Given the description of an element on the screen output the (x, y) to click on. 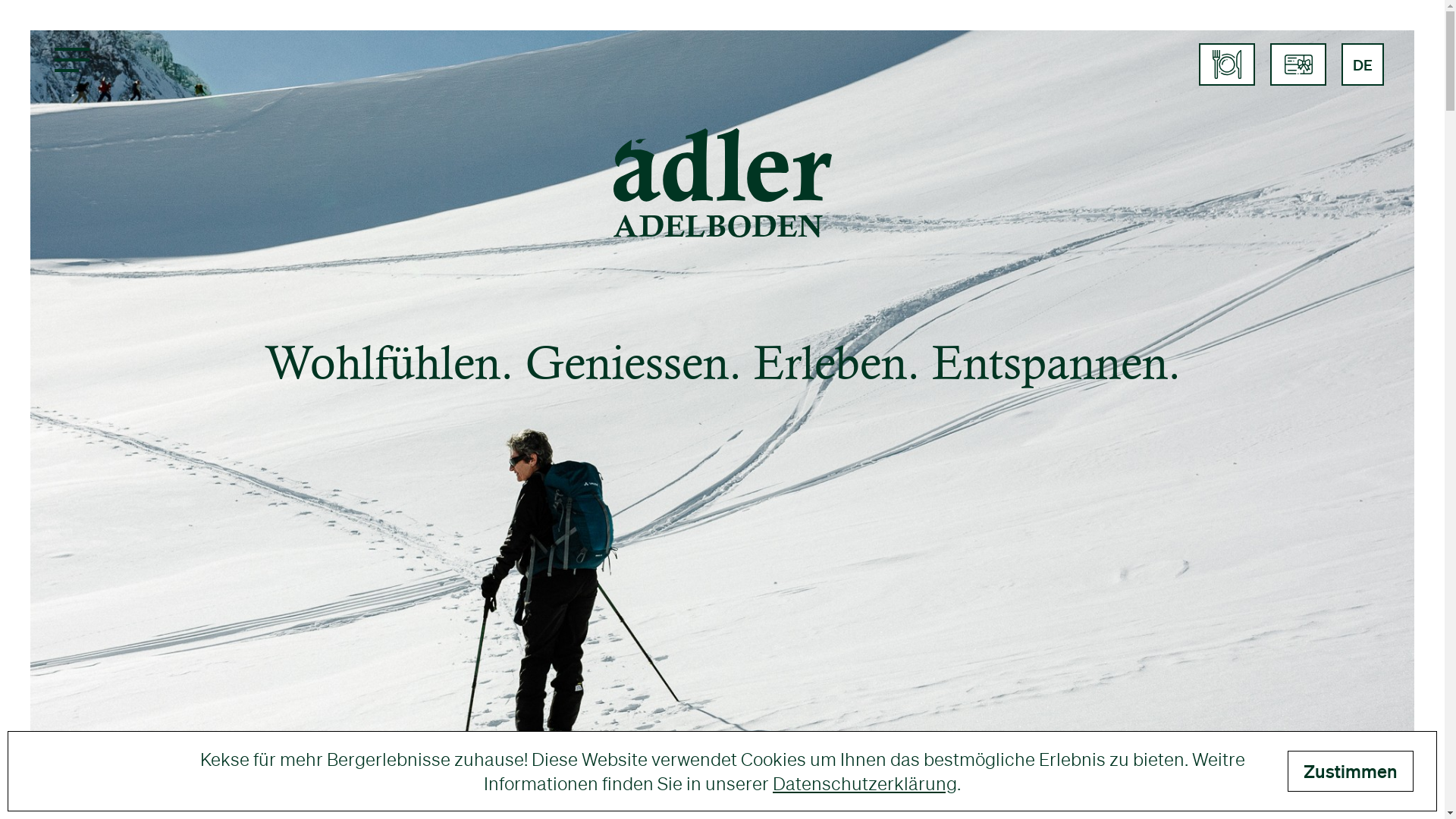
Gutscheine Element type: text (690, 549)
Anmelden Element type: text (551, 580)
Restaurant Element type: text (688, 487)
Adler- horst
Behind the Scenes Element type: text (1345, 658)
JETZT BEWERTEN Element type: text (1233, 573)
Anmelden Element type: text (917, 615)
+41 33 673 41 41 Element type: text (453, 568)
Impressum Element type: text (380, 646)
Zustimmen Element type: text (1350, 770)
Datenschutz Element type: text (384, 667)
Jobs Element type: text (658, 518)
info@adleradelboden.ch Element type: text (482, 589)
